Given the description of an element on the screen output the (x, y) to click on. 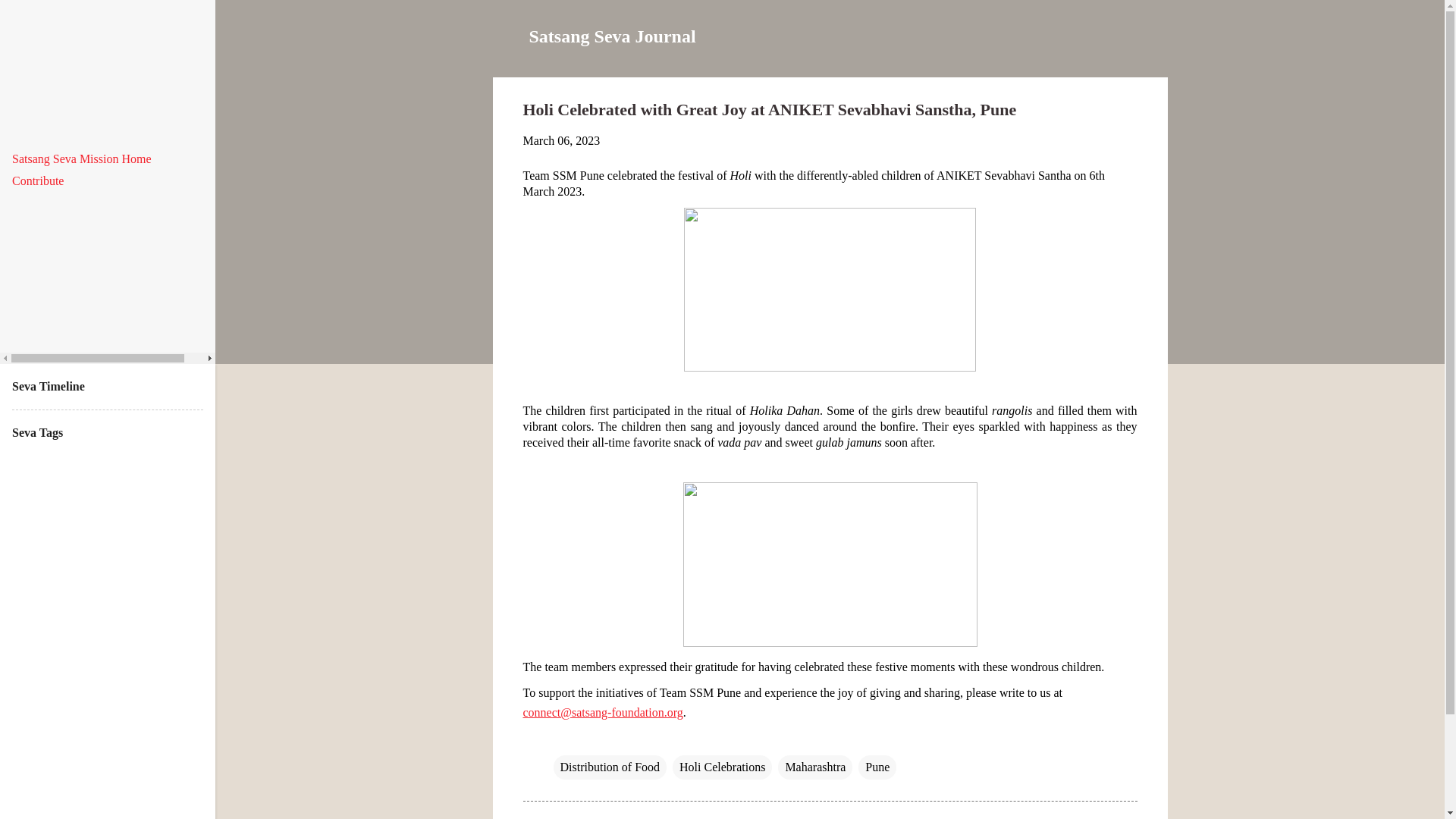
Satsang Seva Journal (612, 35)
Satsang Seva Mission Home (81, 158)
Holi Celebrations (721, 767)
Pune (877, 767)
Contribute (37, 180)
Maharashtra (814, 767)
permanent link (560, 140)
Distribution of Food (609, 767)
March 06, 2023 (560, 140)
Search (31, 18)
